Given the description of an element on the screen output the (x, y) to click on. 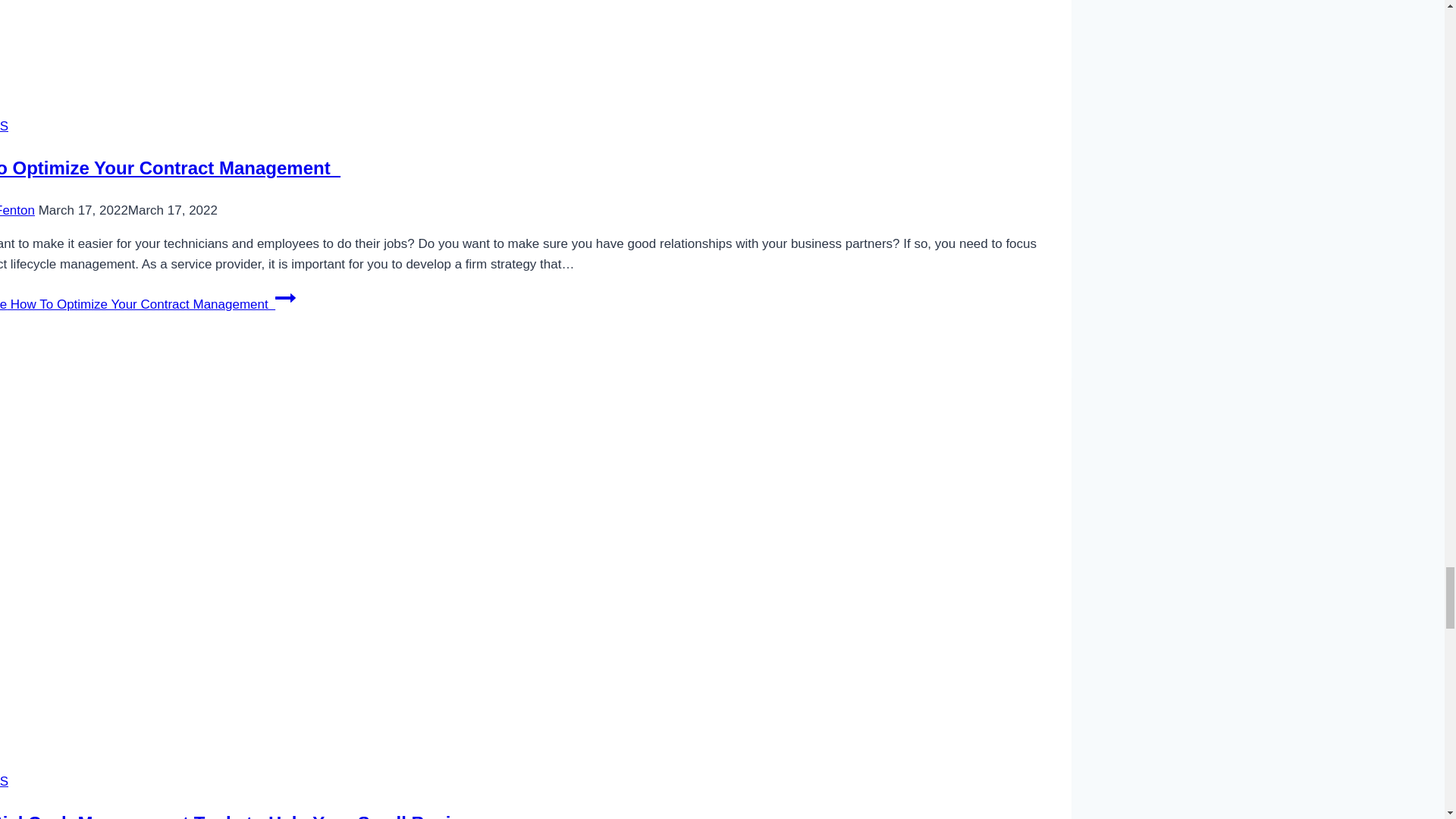
How Big the US Economy Is (250, 42)
